Given the description of an element on the screen output the (x, y) to click on. 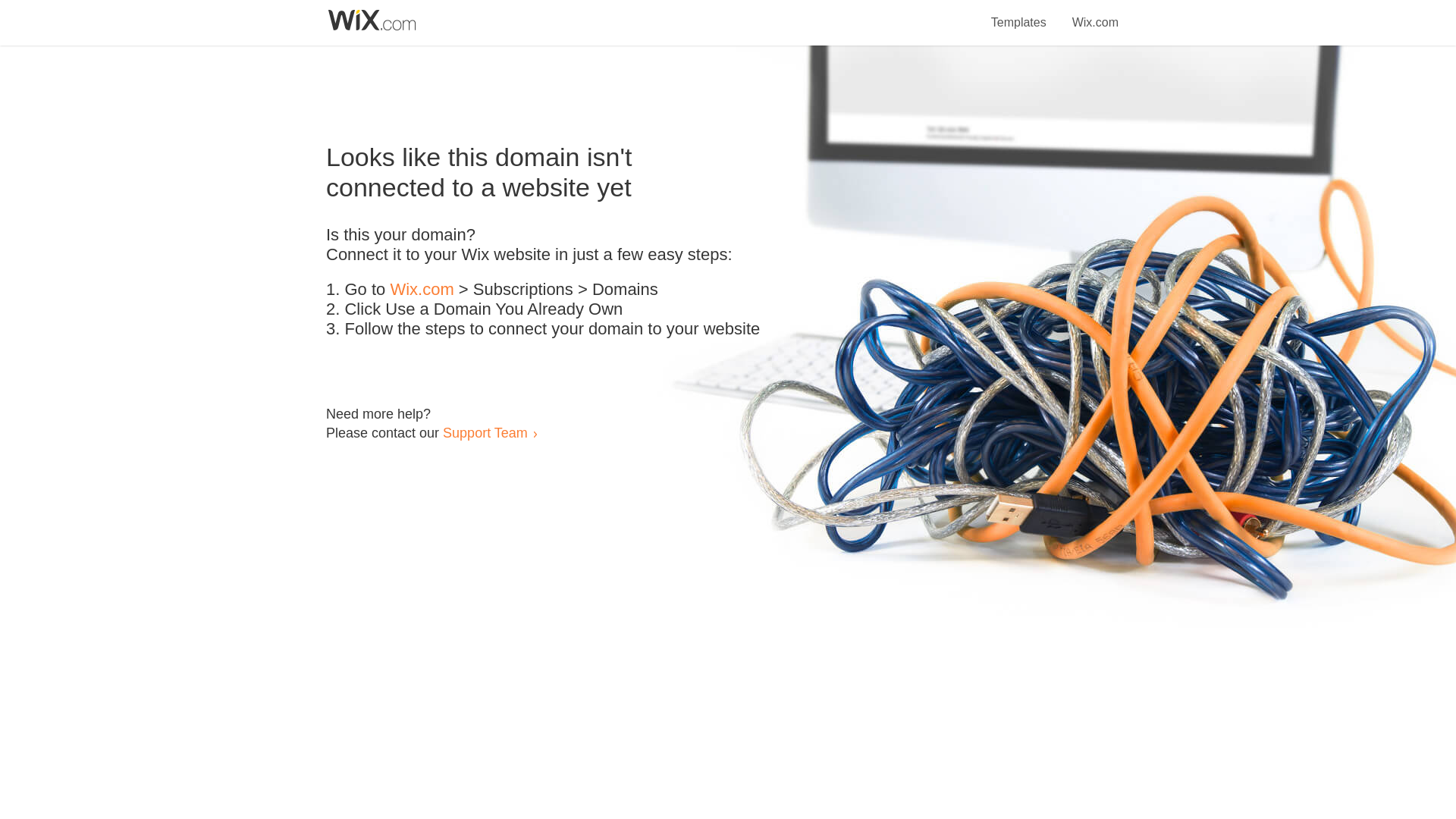
Wix.com (421, 289)
Support Team (484, 432)
Wix.com (1095, 14)
Templates (1018, 14)
